Given the description of an element on the screen output the (x, y) to click on. 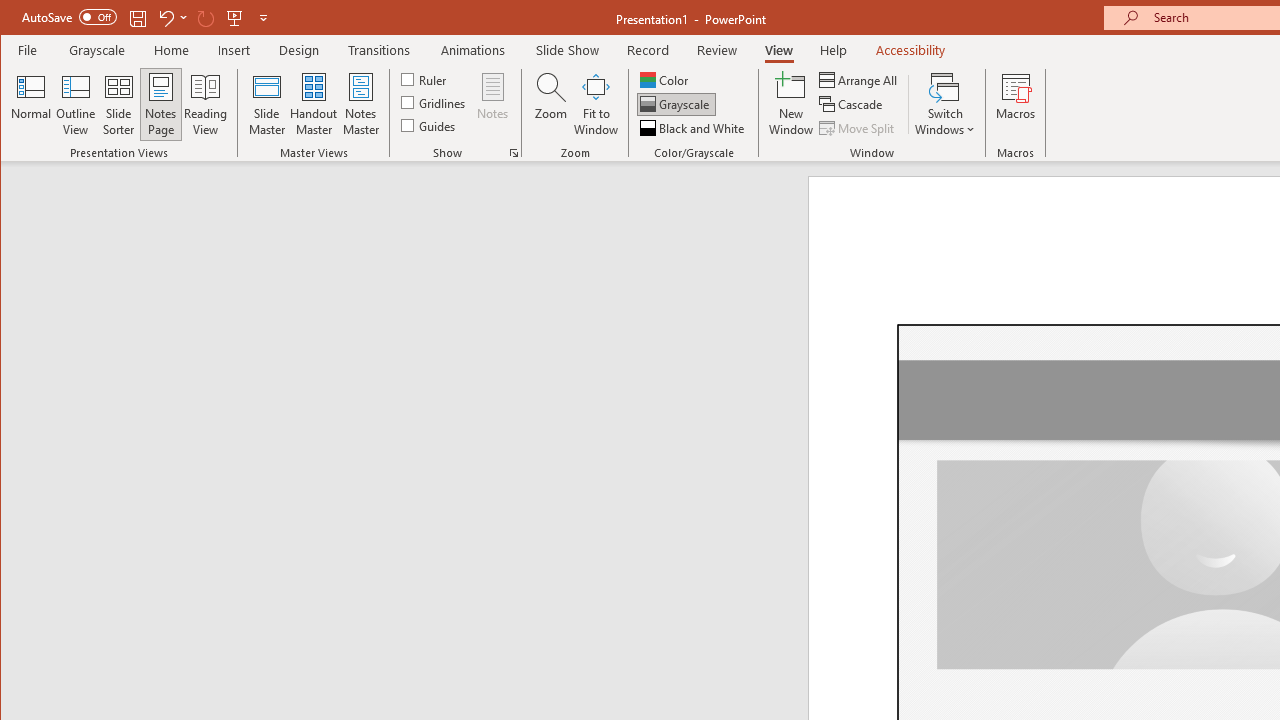
Grid Settings... (513, 152)
